Given the description of an element on the screen output the (x, y) to click on. 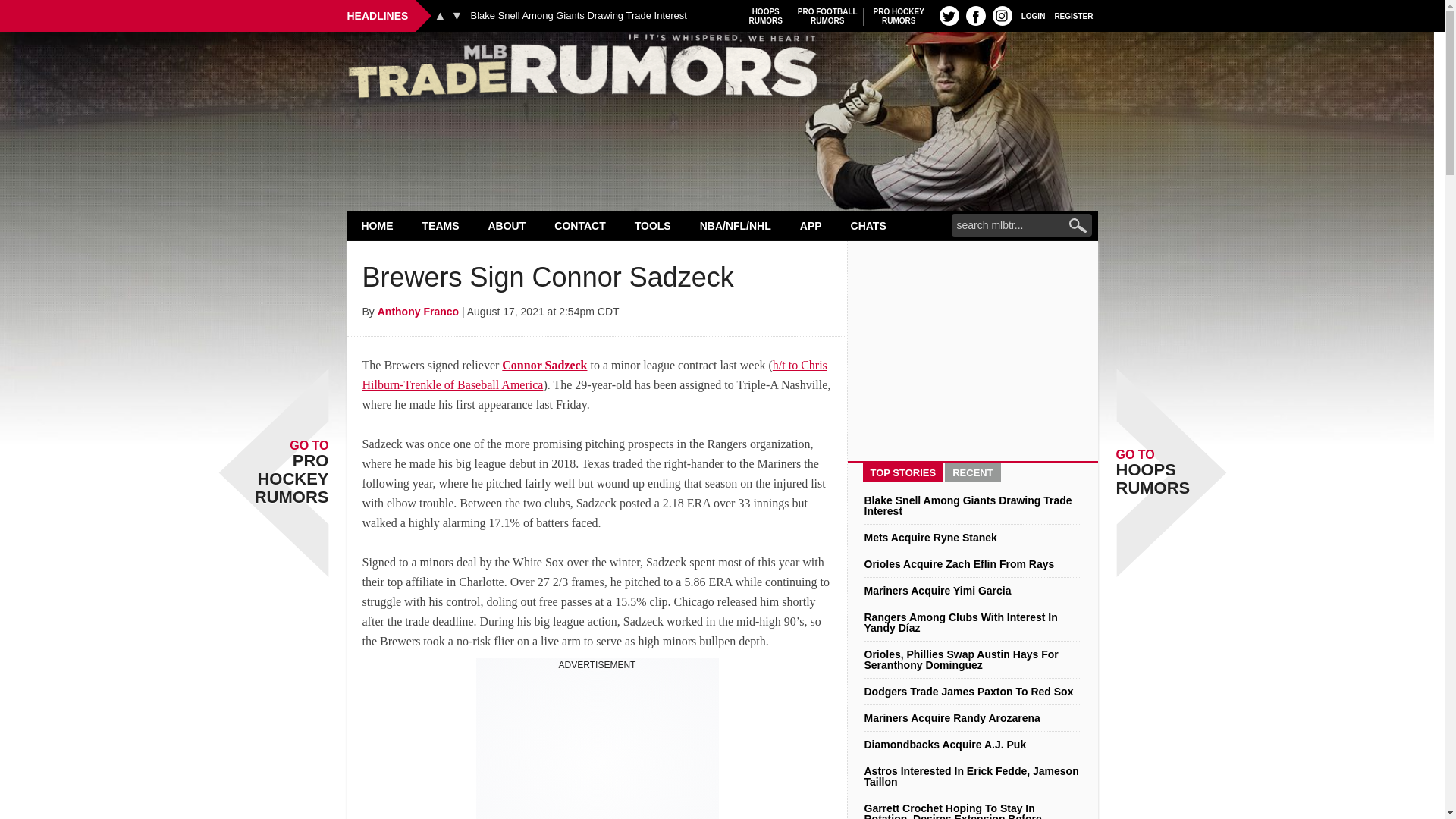
3rd party ad content (597, 744)
Instagram profile (1001, 15)
HOME (377, 225)
TEAMS (440, 225)
Blake Snell Among Giants Drawing Trade Interest (577, 15)
MLB Trade Rumors (722, 69)
LOGIN (1032, 15)
Next (765, 16)
Twitter profile (898, 16)
FB profile (827, 16)
Previous (456, 15)
